Given the description of an element on the screen output the (x, y) to click on. 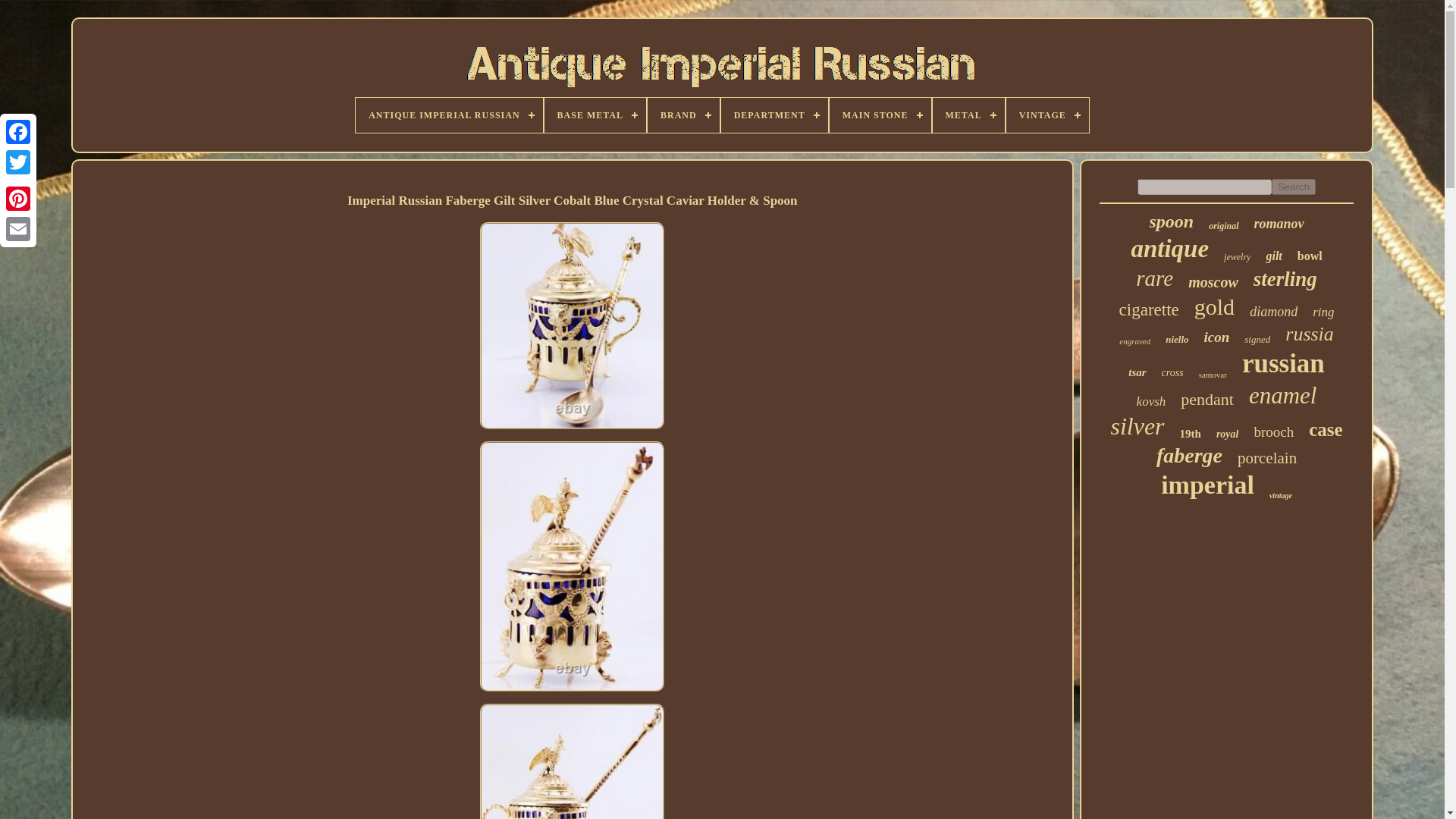
Search (1293, 186)
Email (17, 228)
BASE METAL (595, 114)
BRAND (683, 114)
ANTIQUE IMPERIAL RUSSIAN (448, 114)
